Given the description of an element on the screen output the (x, y) to click on. 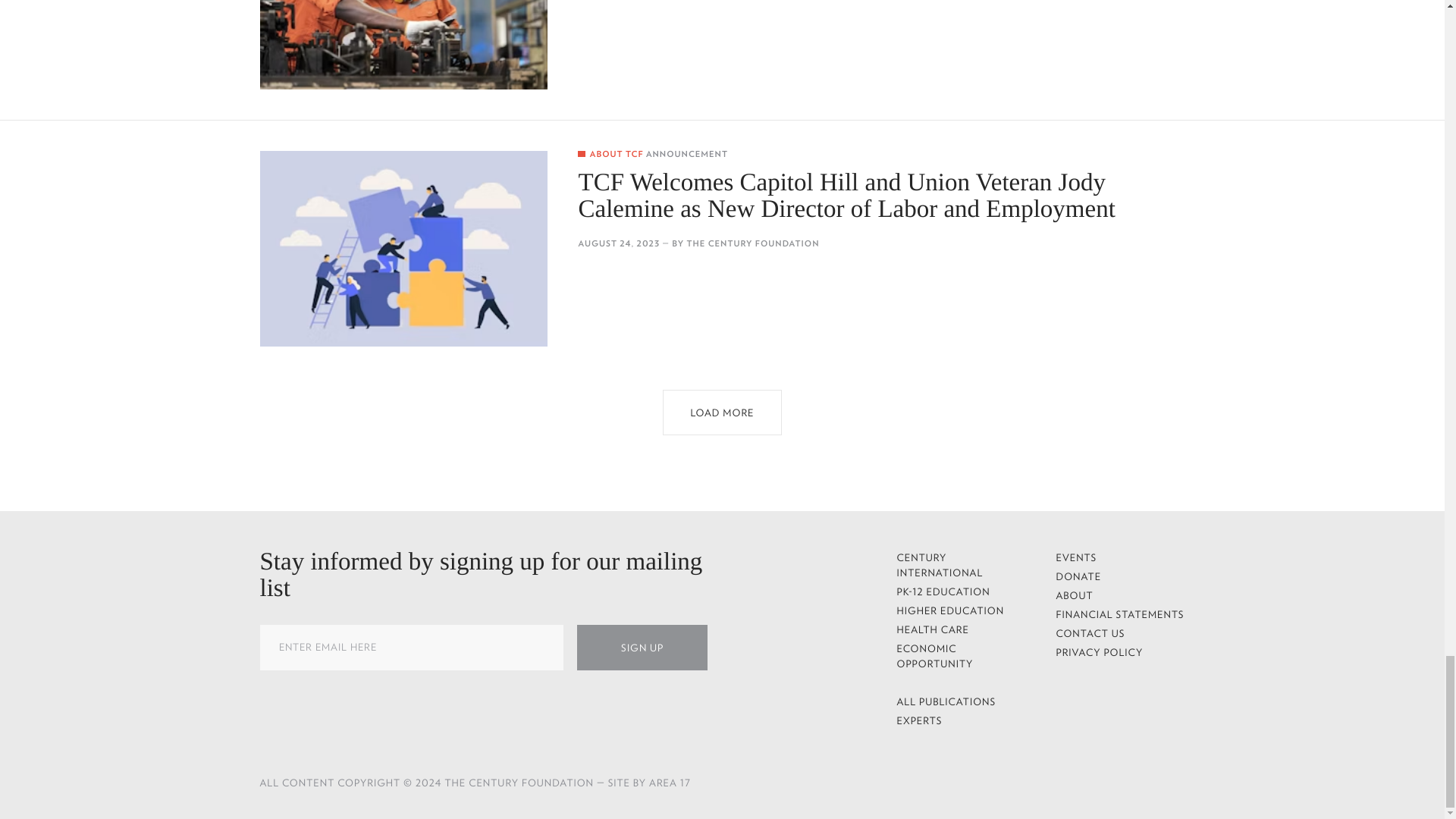
Opens in a new window (973, 781)
Opens in a new window (935, 781)
